Given the description of an element on the screen output the (x, y) to click on. 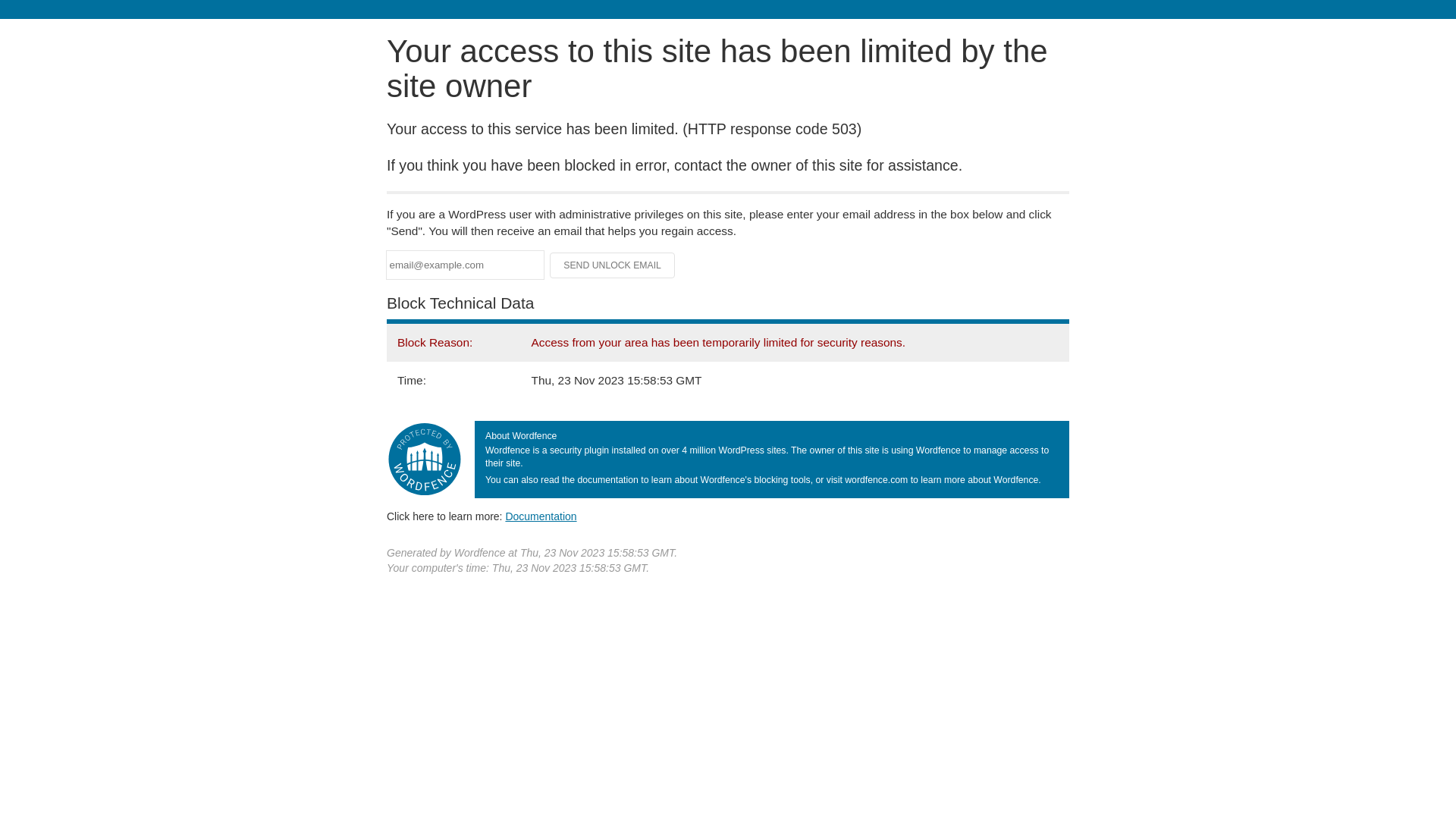
Documentation Element type: text (540, 516)
Send Unlock Email Element type: text (612, 265)
